Given the description of an element on the screen output the (x, y) to click on. 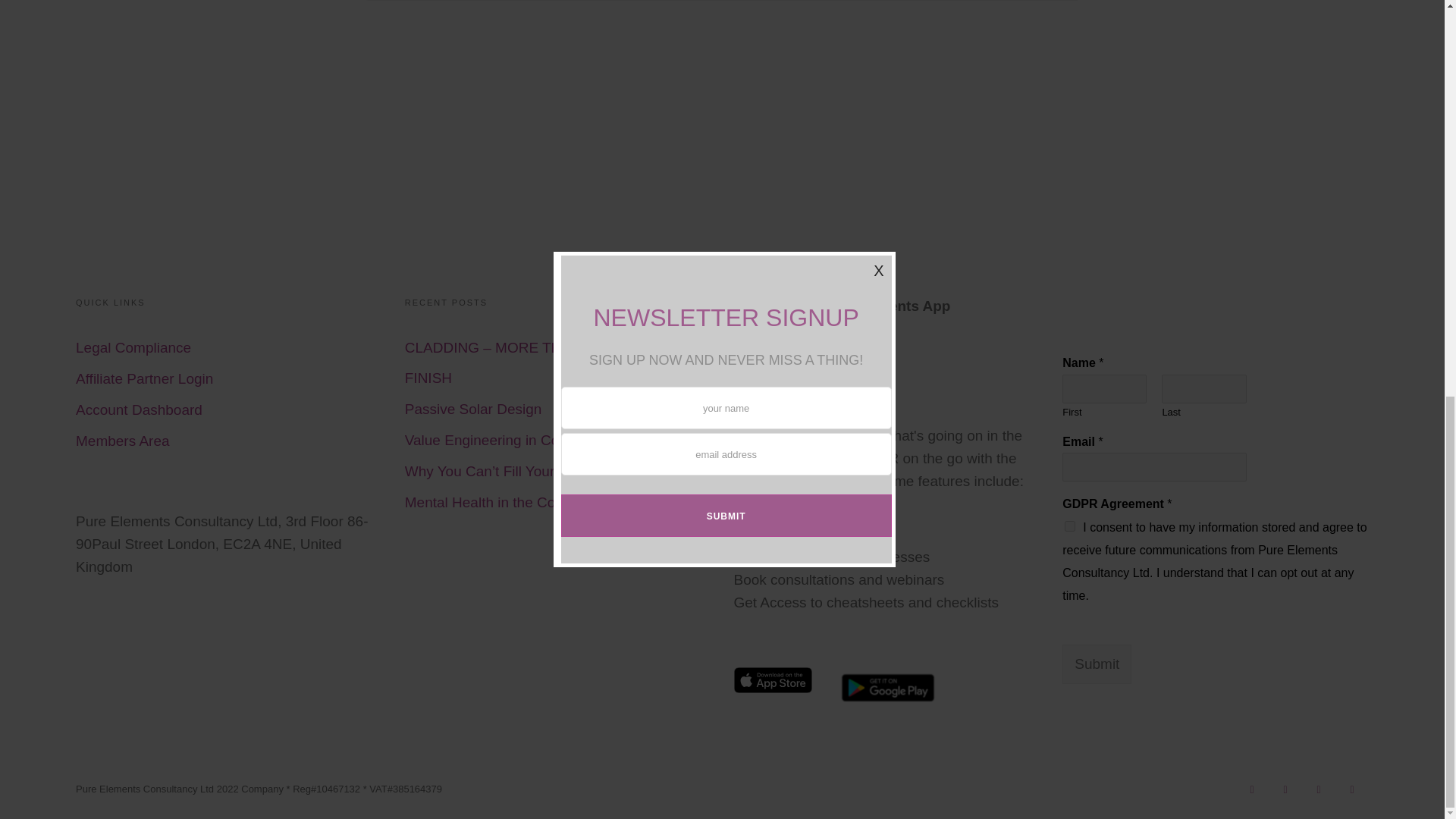
Members Area (122, 440)
Passive Solar Design (472, 408)
Account Dashboard (138, 409)
Affiliate Partner Login (143, 378)
Mental Health in the Construction Industry (538, 502)
Submit (1096, 663)
Legal Compliance (132, 347)
Value Engineering in Construction (512, 439)
